Given the description of an element on the screen output the (x, y) to click on. 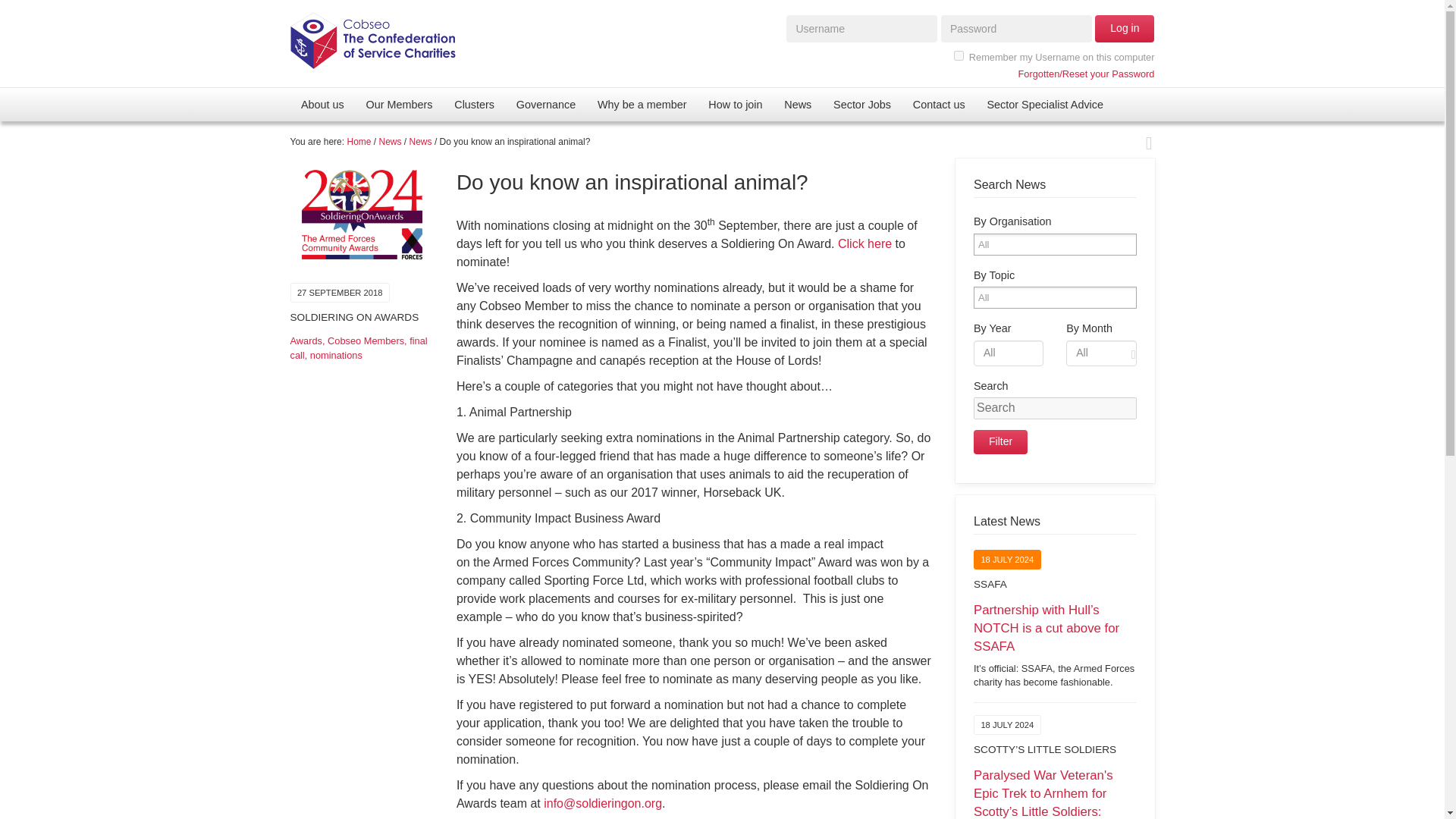
Contact us (938, 104)
All (992, 297)
All (992, 244)
News (797, 104)
Our Members (399, 104)
Log in (1124, 28)
How to join (735, 104)
Sector Jobs (862, 104)
Why be a member (641, 104)
Filter (1000, 441)
Clusters (474, 104)
forever (958, 55)
Sector Specialist Advice (1044, 104)
About us (322, 104)
Governance (545, 104)
